Given the description of an element on the screen output the (x, y) to click on. 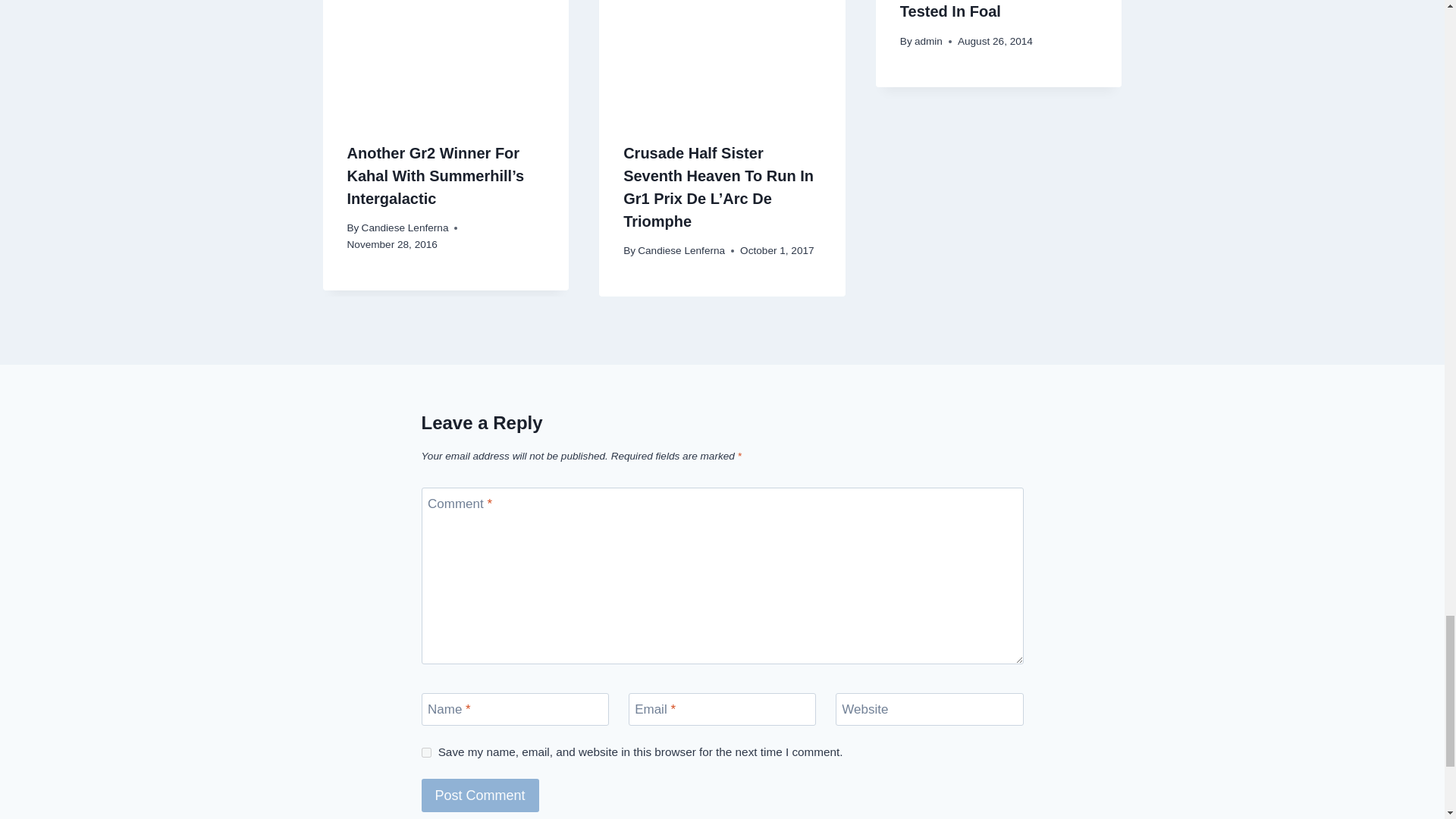
yes (426, 752)
Post Comment (480, 794)
